Given the description of an element on the screen output the (x, y) to click on. 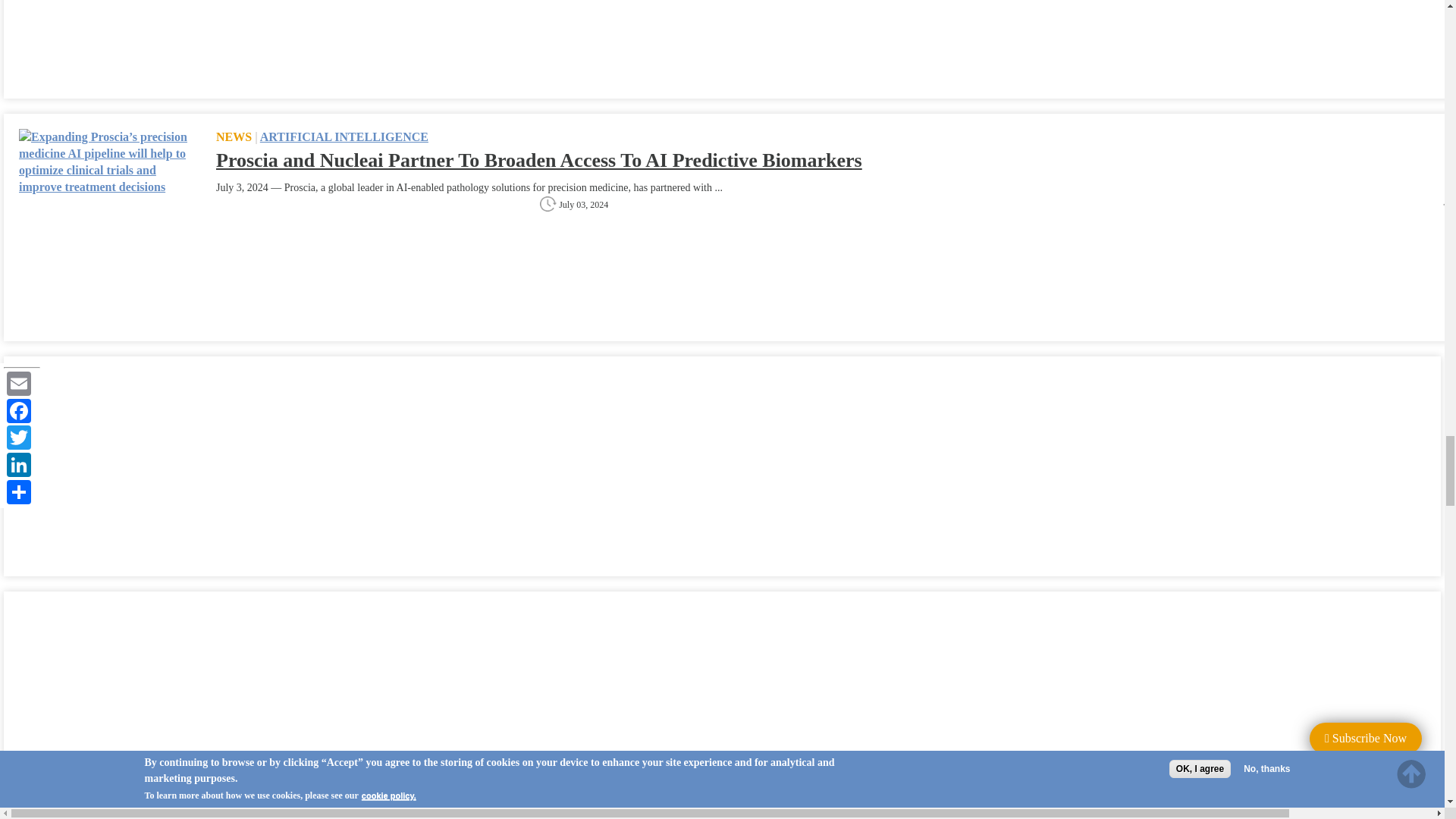
3rd party ad content (132, 712)
3rd party ad content (132, 466)
